Given the description of an element on the screen output the (x, y) to click on. 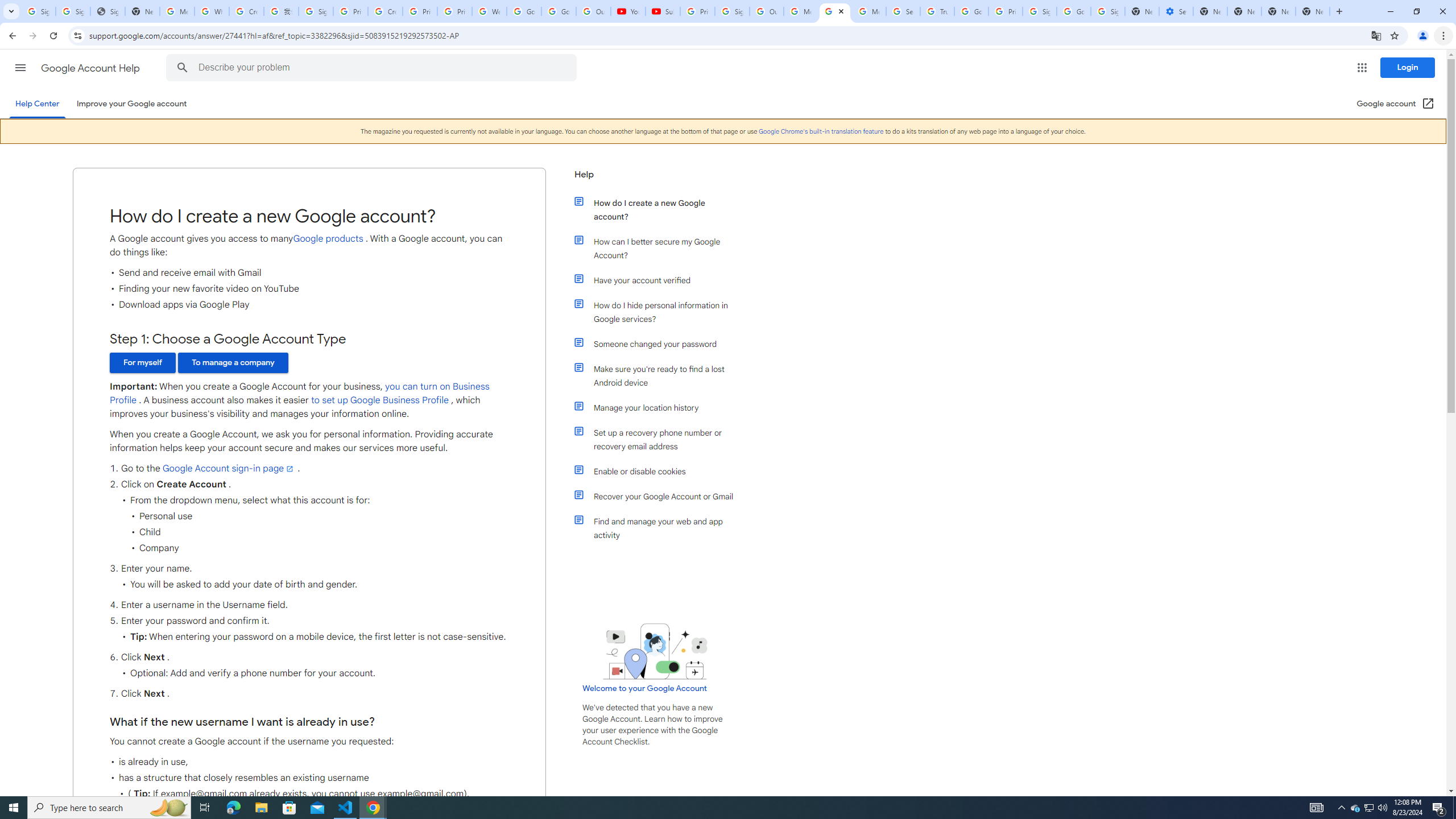
Sign in - Google Accounts (732, 11)
System (6, 6)
YouTube (627, 11)
Find and manage your web and app activity (661, 528)
Bookmark this tab (1393, 35)
Back (10, 35)
Subscriptions - YouTube (662, 11)
Someone changed your password (661, 343)
Google Account (Opens in new window) (1395, 103)
Learning Center home page image (655, 651)
Help Center (36, 103)
Welcome to My Activity (489, 11)
Trusted Information and Content - Google Safety Center (937, 11)
Minimize (1390, 11)
